Given the description of an element on the screen output the (x, y) to click on. 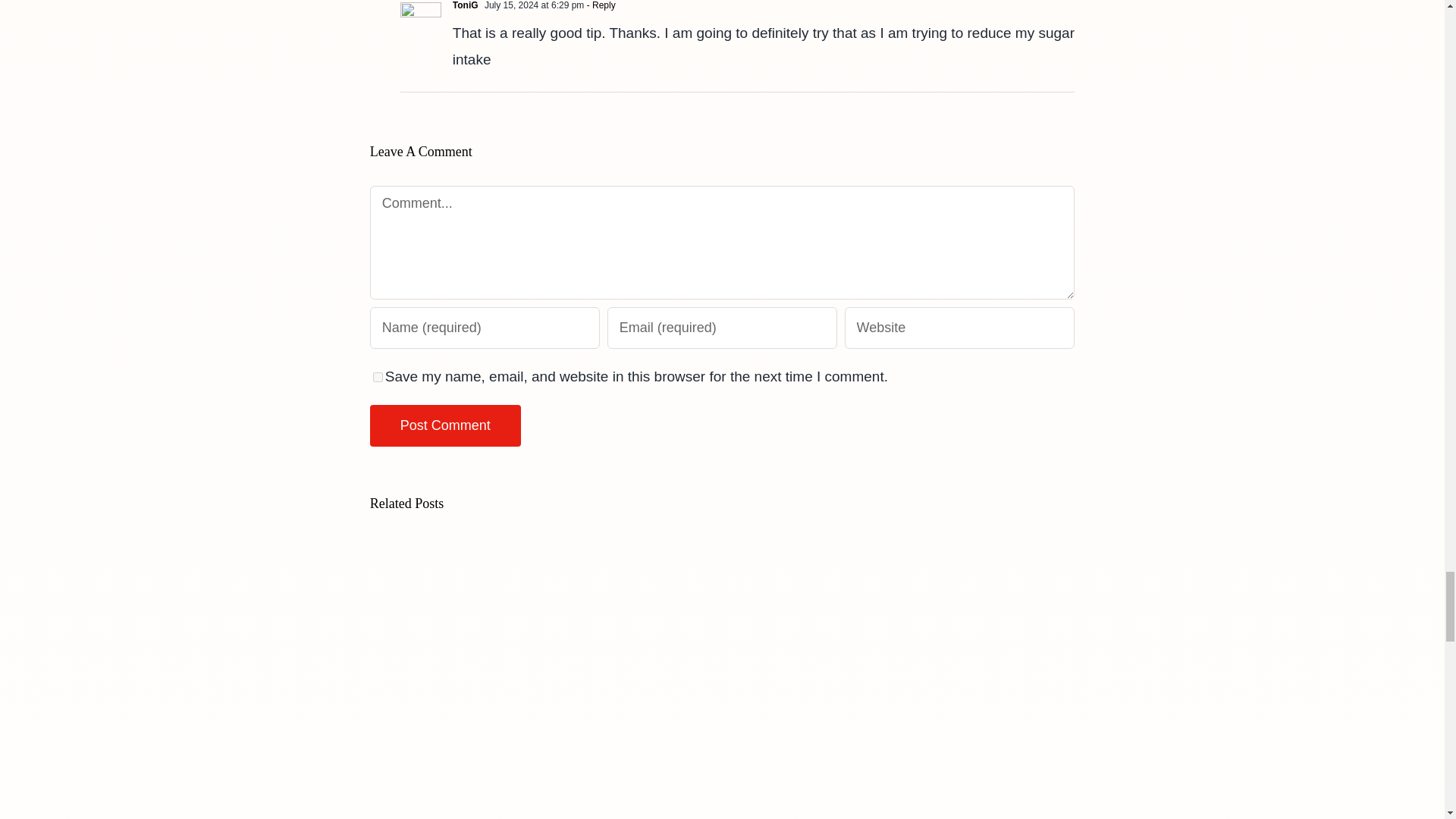
yes (377, 377)
Post Comment (445, 425)
